Given the description of an element on the screen output the (x, y) to click on. 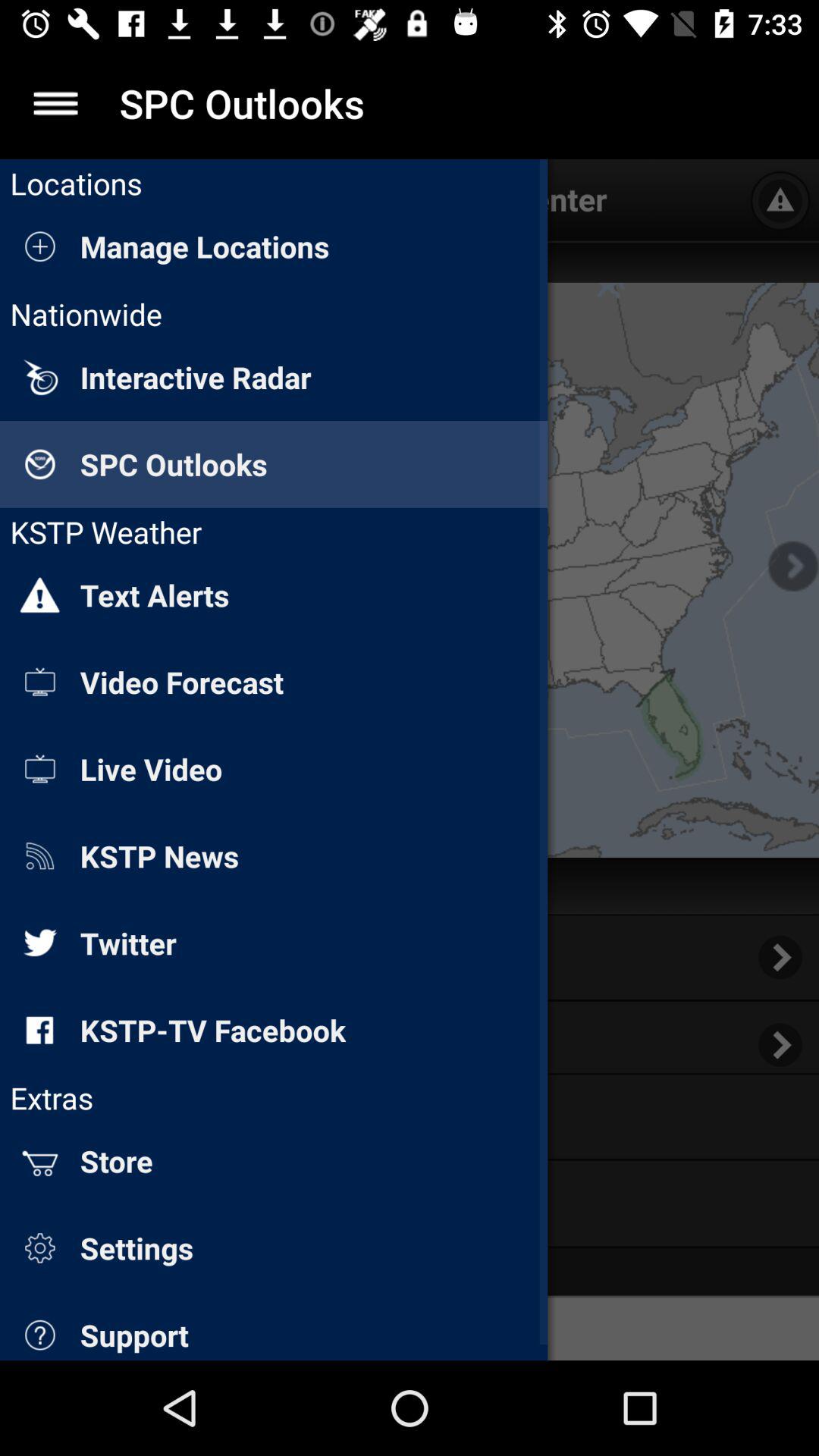
turn off the app to the left of spc outlooks item (55, 103)
